Given the description of an element on the screen output the (x, y) to click on. 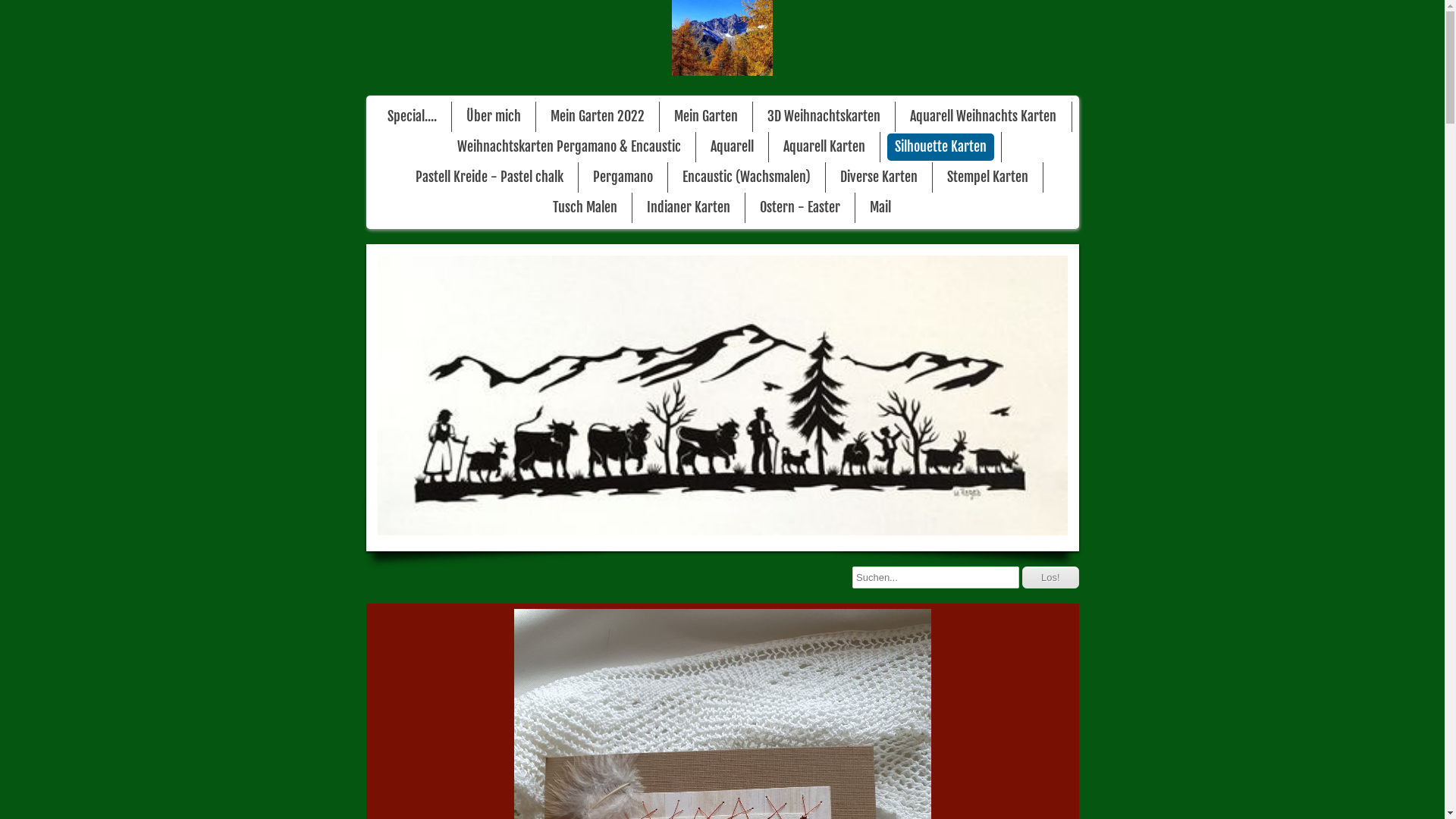
Aquarell Element type: text (731, 146)
Silhouette Karten Element type: text (940, 146)
Encaustic (Wachsmalen) Element type: text (746, 177)
Stempel Karten Element type: text (987, 177)
Aquarell Karten Element type: text (823, 146)
3D Weihnachtskarten Element type: text (823, 116)
Indianer Karten Element type: text (688, 207)
Los! Element type: text (1050, 577)
Diverse Karten Element type: text (878, 177)
Mail Element type: text (880, 207)
Ostern - Easter Element type: text (799, 207)
Pastell Kreide - Pastel chalk Element type: text (489, 177)
Mein Garten 2022 Element type: text (597, 116)
Weihnachtskarten Pergamano & Encaustic Element type: text (568, 146)
Special.... Element type: text (411, 116)
Aquarell Weihnachts Karten Element type: text (982, 116)
Mein Garten Element type: text (705, 116)
Tusch Malen Element type: text (584, 207)
Pergamano Element type: text (622, 177)
